Given the description of an element on the screen output the (x, y) to click on. 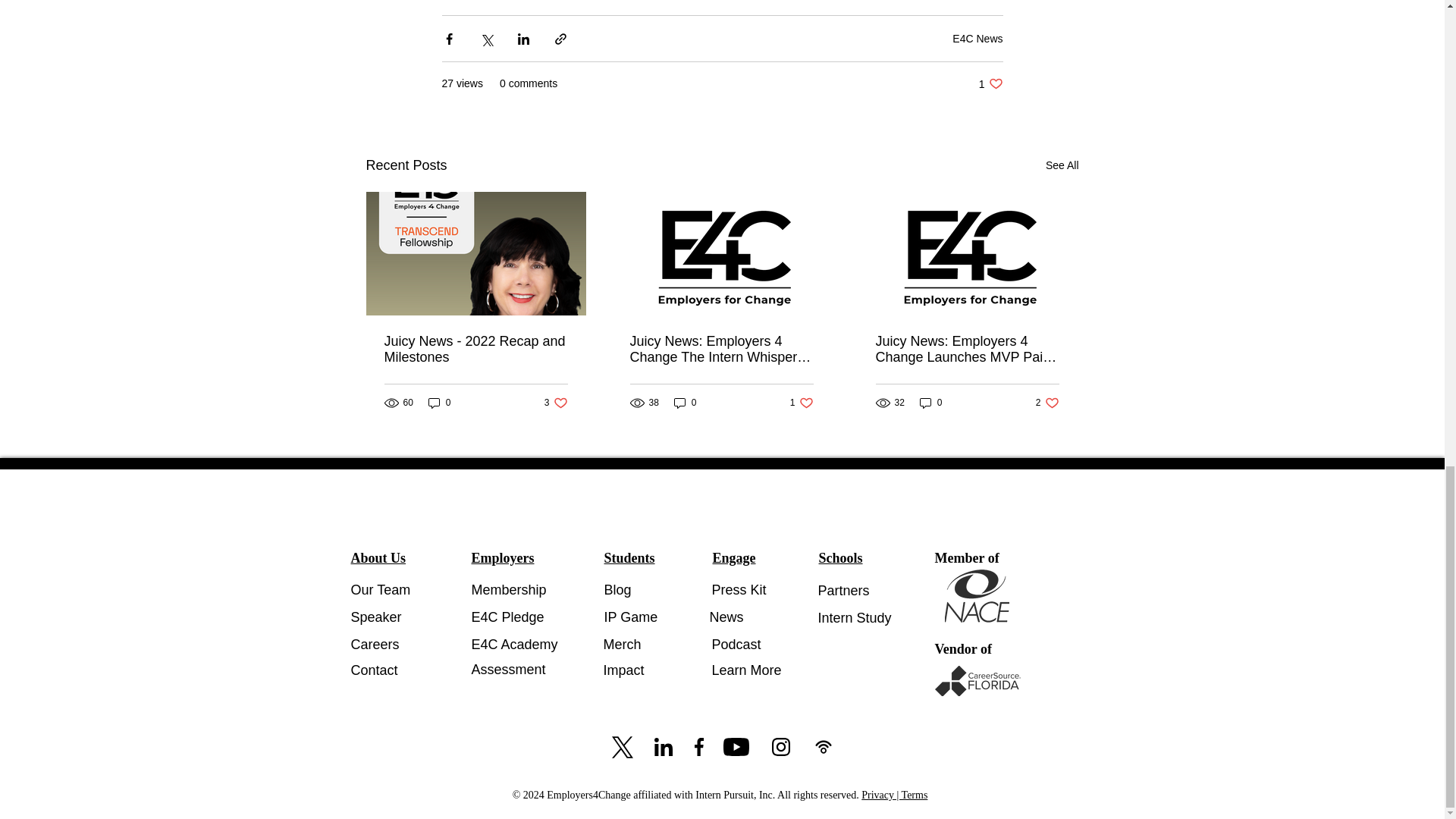
0 (439, 402)
0 (555, 402)
E4C News (685, 402)
Juicy News - 2022 Recap and Milestones (977, 37)
0 (801, 402)
See All (475, 349)
